Given the description of an element on the screen output the (x, y) to click on. 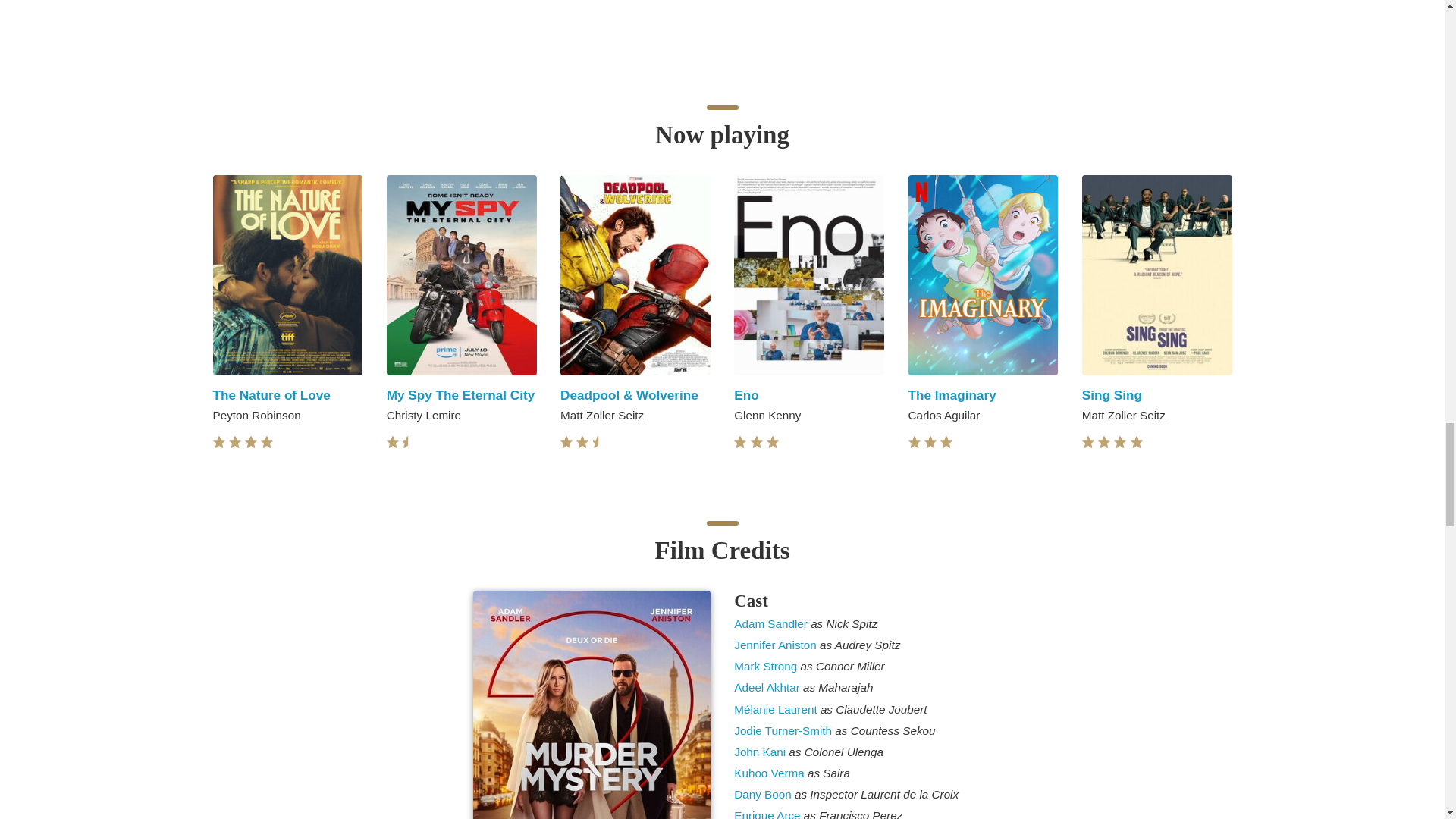
star-full (234, 441)
The Nature of Love (271, 394)
My Spy The Eternal City (460, 394)
star-full (392, 441)
star-full (250, 441)
star-full (218, 441)
star-full (266, 441)
star-half (408, 441)
